Given the description of an element on the screen output the (x, y) to click on. 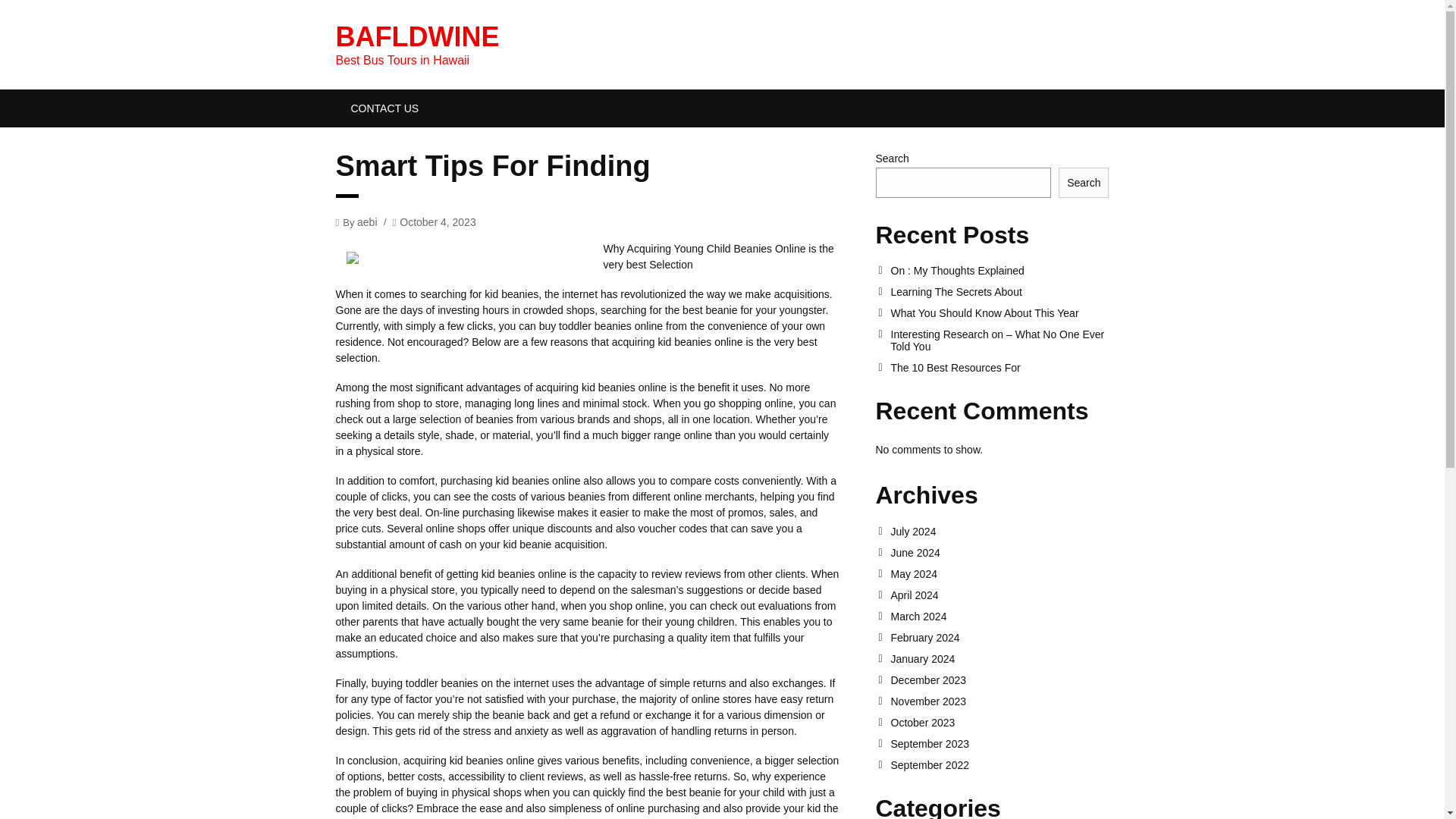
October 4, 2023 (437, 221)
December 2023 (998, 680)
November 2023 (998, 701)
January 2024 (998, 658)
BAFLDWINE (416, 36)
July 2024 (998, 531)
The 10 Best Resources For (998, 367)
September 2023 (998, 743)
June 2024 (998, 552)
March 2024 (998, 616)
April 2024 (998, 594)
CONTACT US (383, 108)
September 2022 (998, 765)
Best Bus Tours in Hawaii (416, 36)
Learning The Secrets About (998, 291)
